Given the description of an element on the screen output the (x, y) to click on. 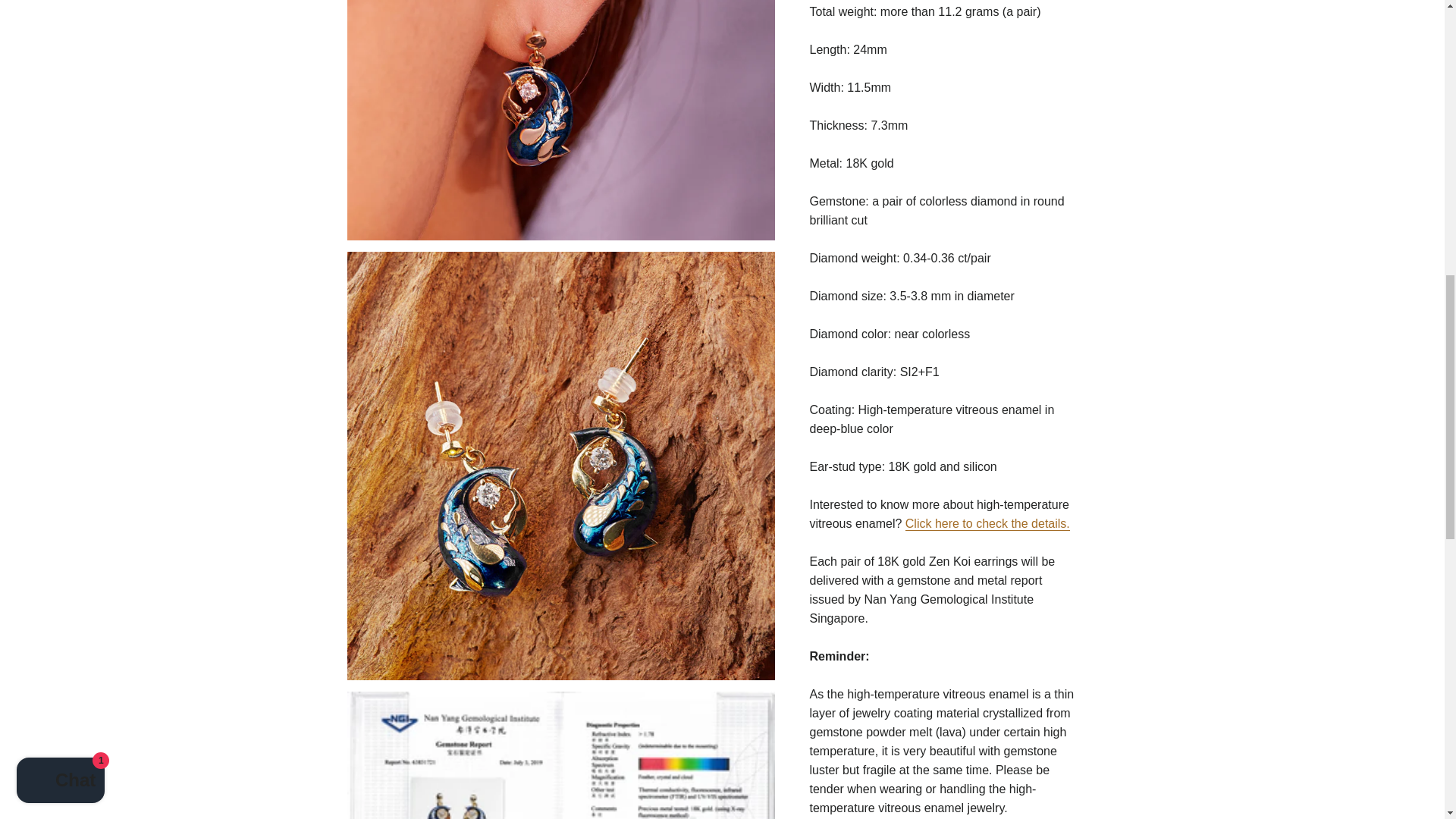
Click here to check the details. (987, 523)
